Given the description of an element on the screen output the (x, y) to click on. 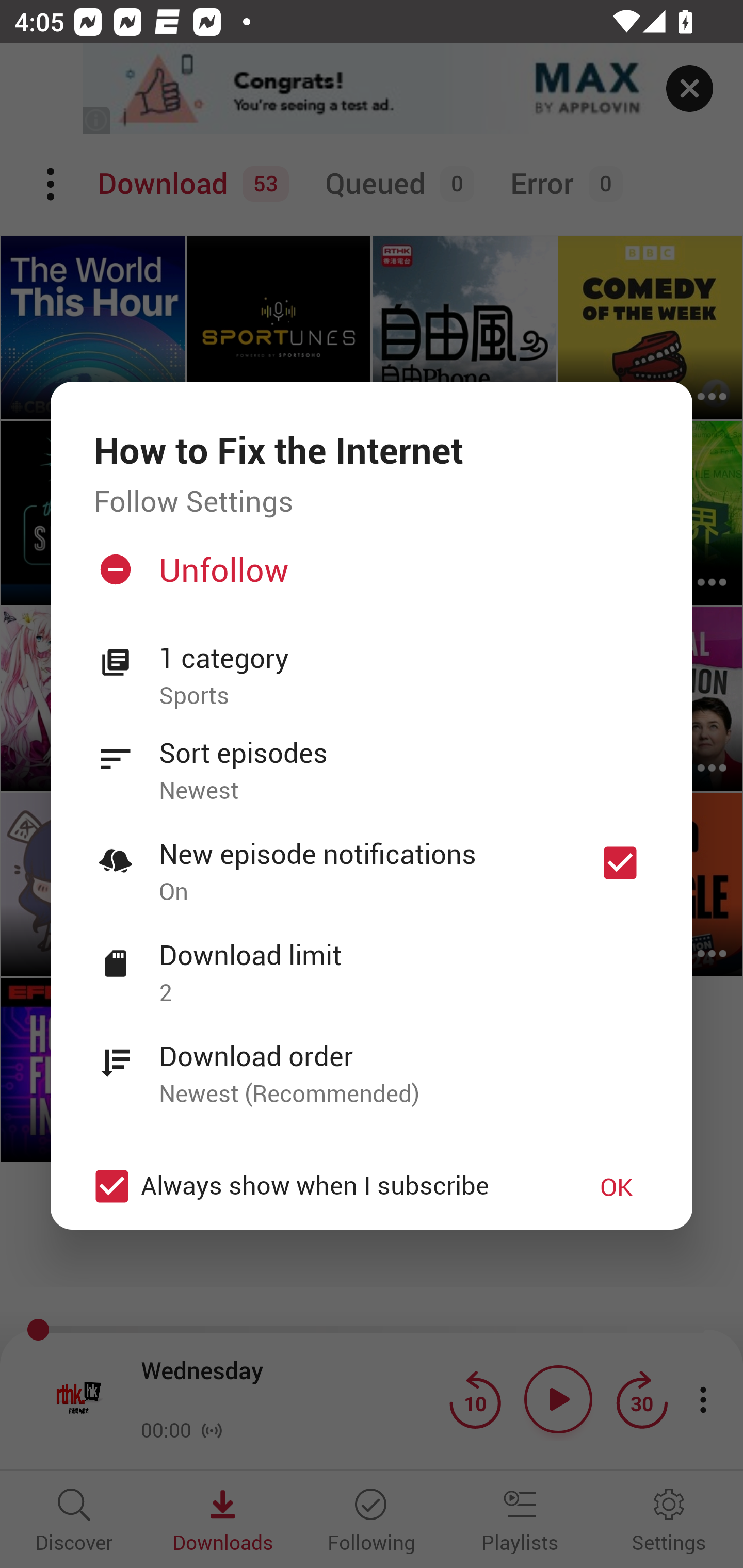
Unfollow (369, 576)
1 category (404, 658)
Sports (404, 696)
Sort episodes Newest (371, 760)
New episode notifications (620, 863)
Download limit 2 (371, 962)
Download order Newest (Recommended) (371, 1063)
OK (616, 1186)
Always show when I subscribe (320, 1186)
